Given the description of an element on the screen output the (x, y) to click on. 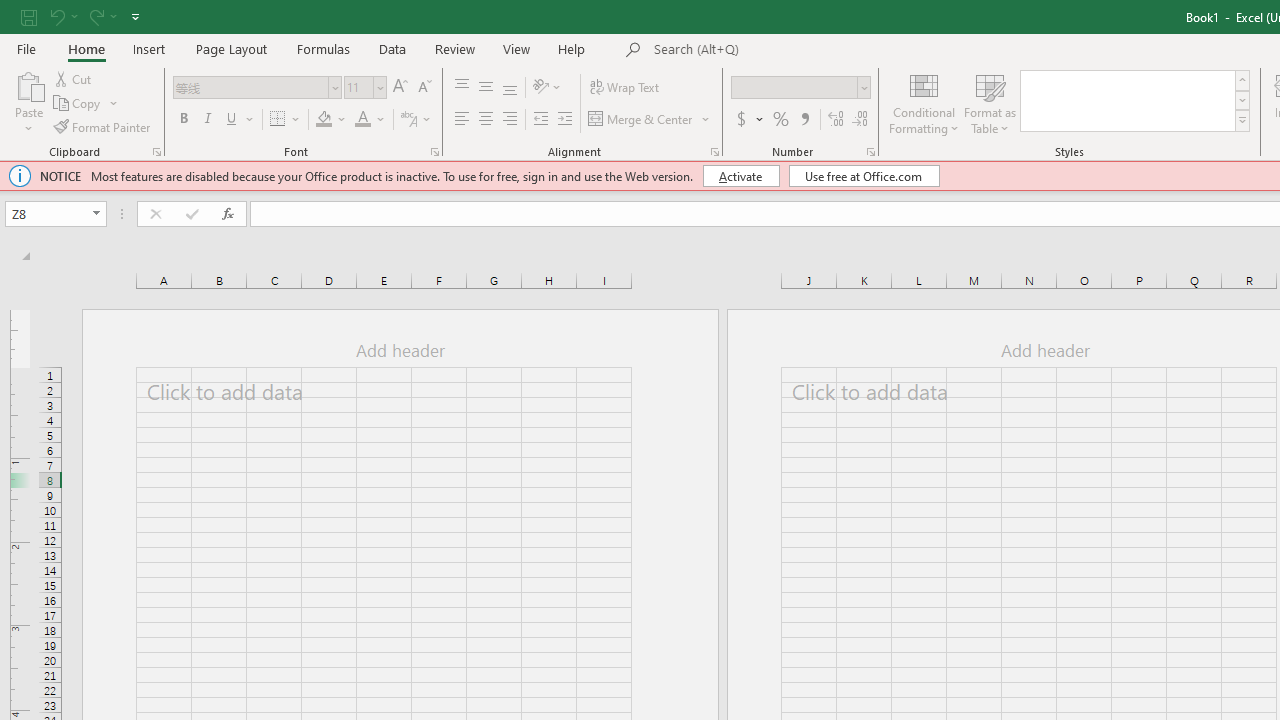
Increase Indent (565, 119)
Percent Style (781, 119)
Increase Font Size (399, 87)
Fill Color (331, 119)
Format Cell Number (870, 151)
Use free at Office.com (863, 175)
Fill Color (324, 119)
Wrap Text (624, 87)
Increase Decimal (836, 119)
